Given the description of an element on the screen output the (x, y) to click on. 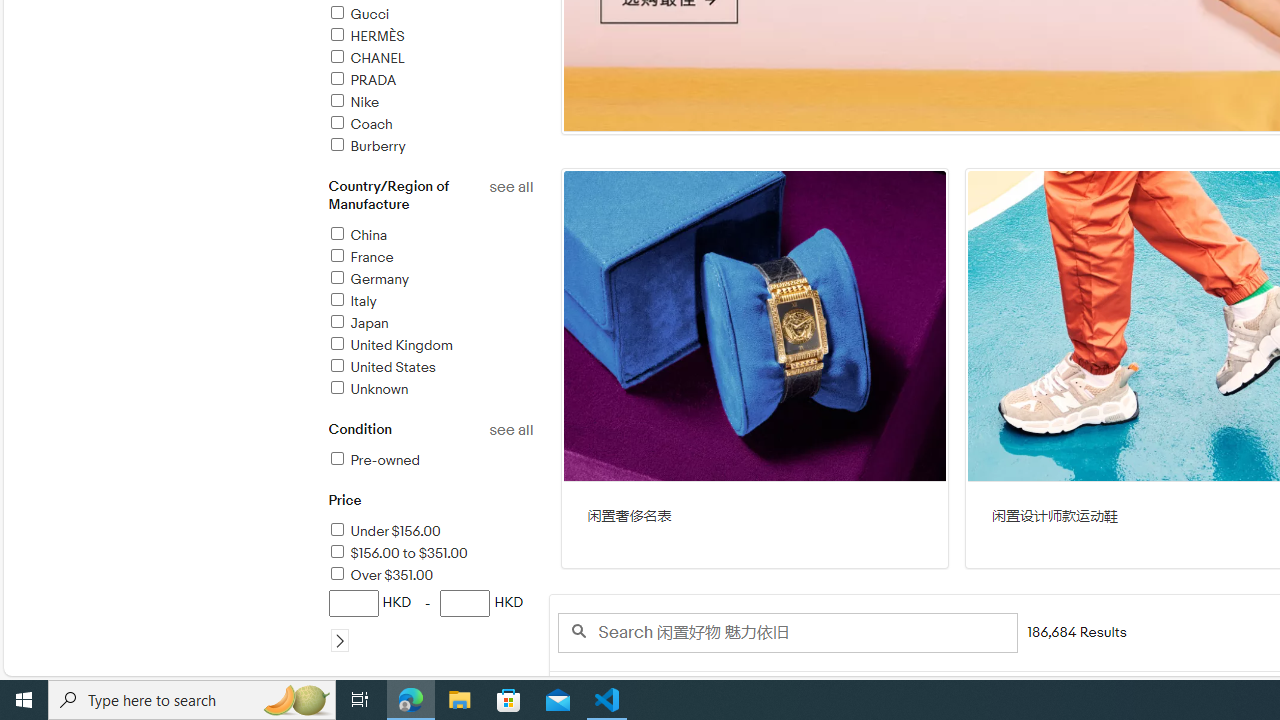
Japan (357, 323)
PriceUnder $156.00$156.00 to $351.00Over $351.00HKD-HKD (430, 583)
Over $351.00 (430, 576)
PRADA (361, 80)
Over $351.00 (379, 575)
United Kingdom (430, 345)
Burberry (430, 147)
United States (381, 367)
Germany (367, 279)
$156.00 to $351.00 (397, 553)
Unknown (367, 389)
Conditionsee allPre-owned (430, 456)
See all buying format refinements (510, 684)
